Given the description of an element on the screen output the (x, y) to click on. 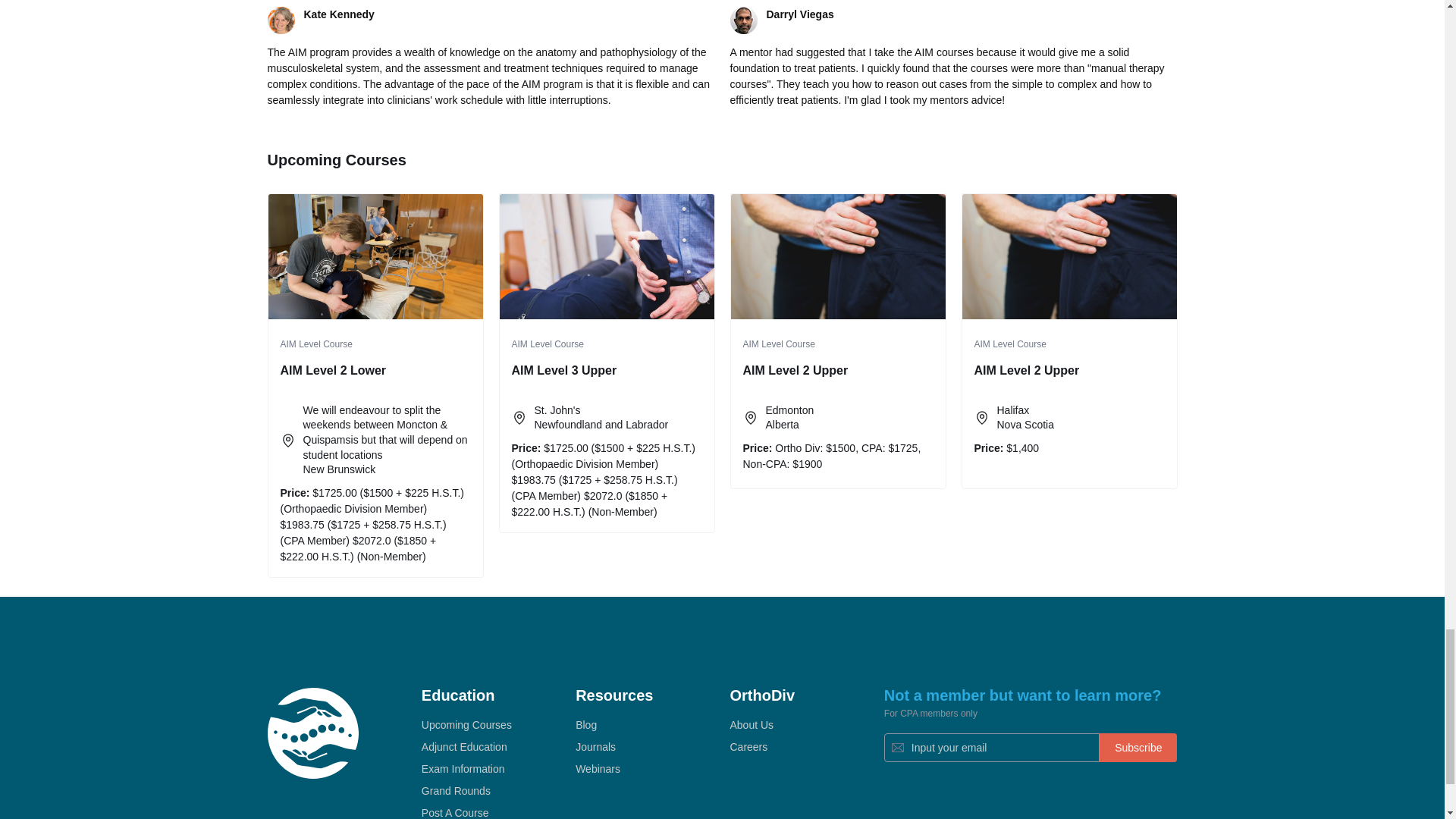
AIM Level 2 Upper (1068, 258)
AIM Level 2 Lower (375, 258)
Subscribe (1137, 747)
AIM Level 2 Upper (837, 258)
AIM Level 3 Upper (606, 258)
